Given the description of an element on the screen output the (x, y) to click on. 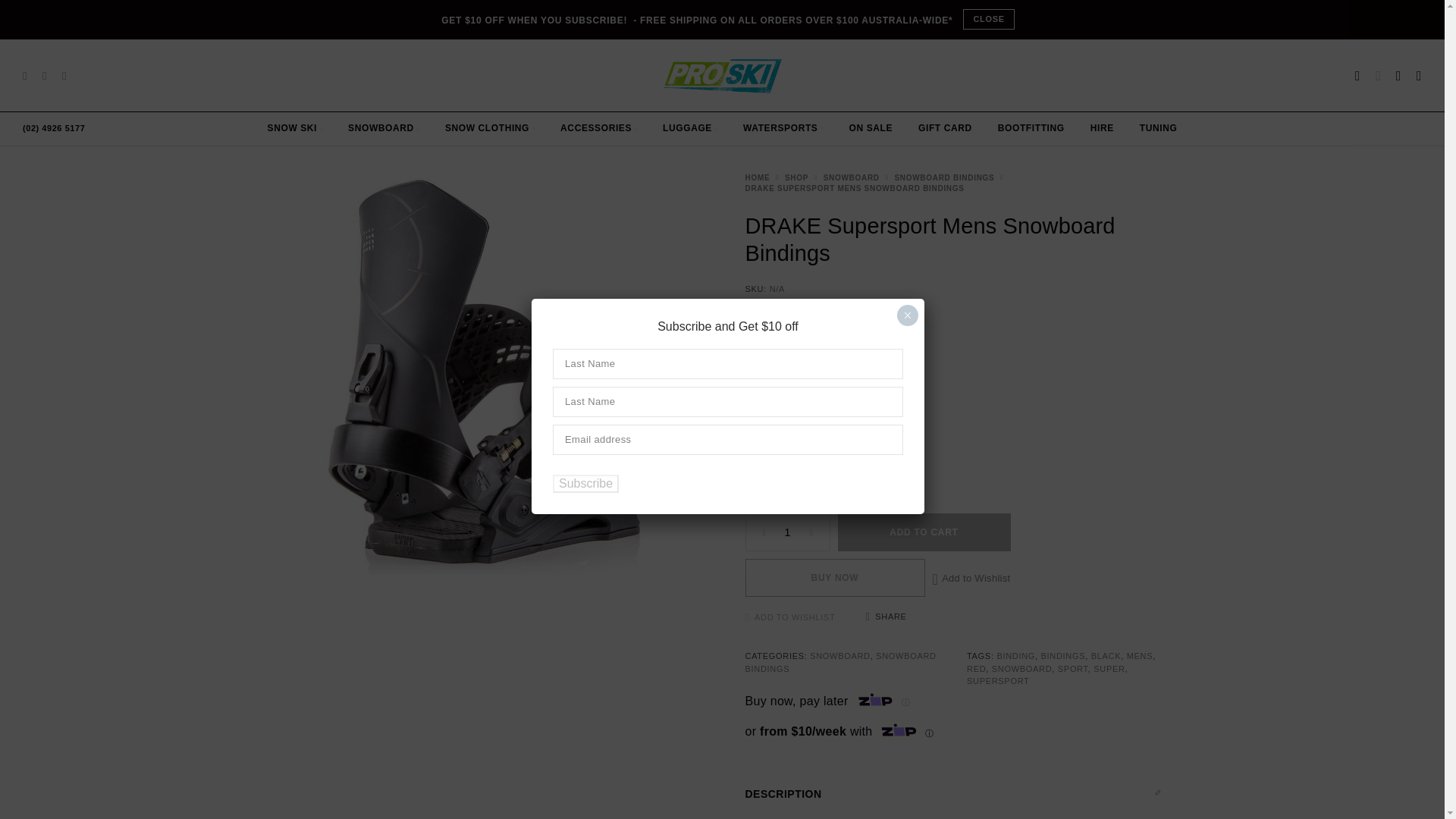
Snow Ski (295, 128)
1 (787, 532)
Qty (787, 532)
Subscribe (585, 484)
Login (1358, 75)
Zip payment Information (904, 702)
Black (757, 393)
CLOSE (987, 19)
